Given the description of an element on the screen output the (x, y) to click on. 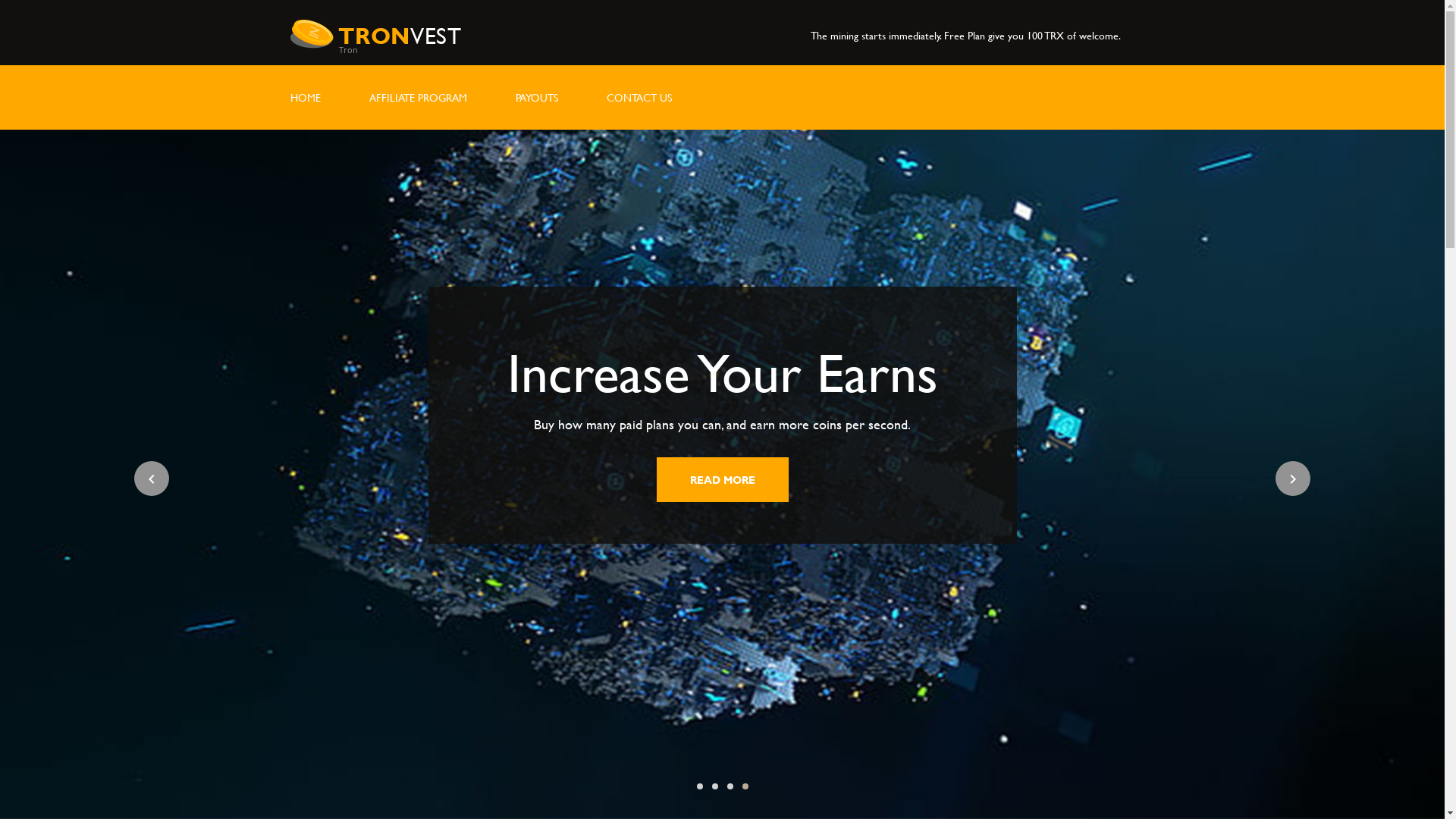
AFFILIATE PROGRAM Element type: text (417, 97)
TRONVEST
Tron Element type: text (399, 41)
PAYOUTS Element type: text (536, 97)
READ MORE Element type: text (738, 479)
HOME Element type: text (304, 97)
CONTACT US Element type: text (638, 97)
